Given the description of an element on the screen output the (x, y) to click on. 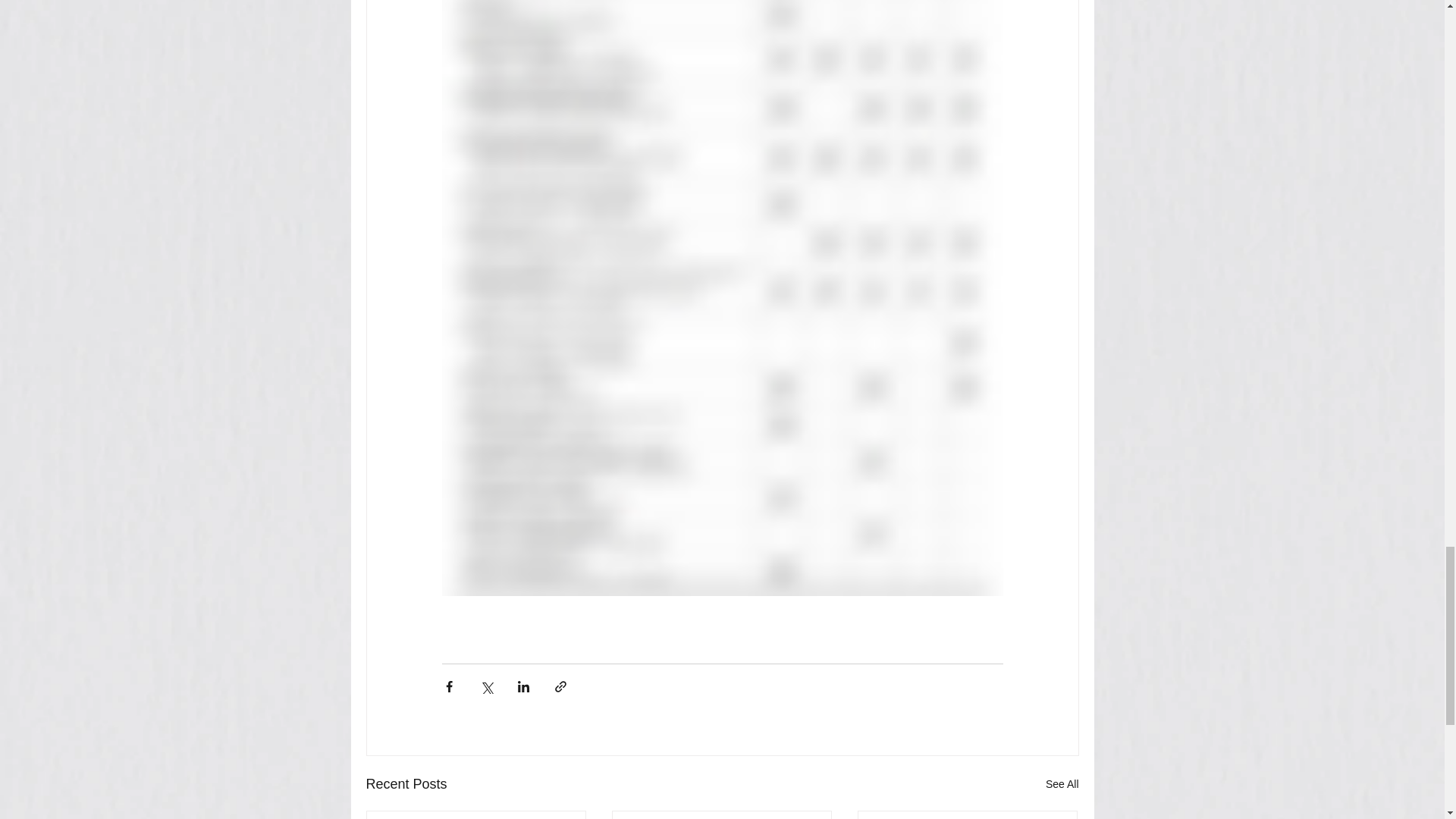
See All (1061, 784)
